Given the description of an element on the screen output the (x, y) to click on. 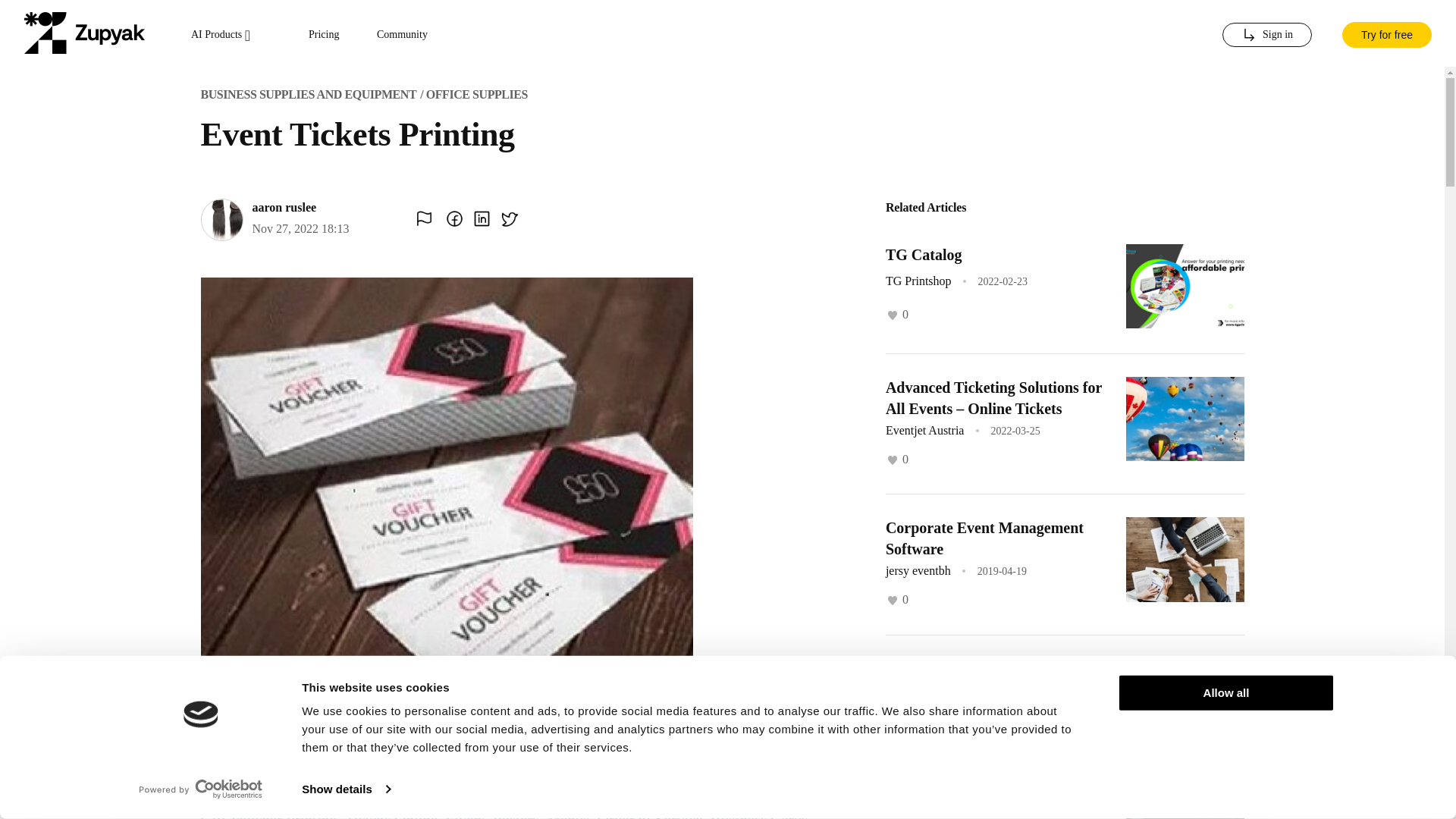
TG Catalog (923, 254)
Miss Chinese International 2019 (989, 808)
Show details (345, 789)
Corporate Event Management Software (984, 538)
